Given the description of an element on the screen output the (x, y) to click on. 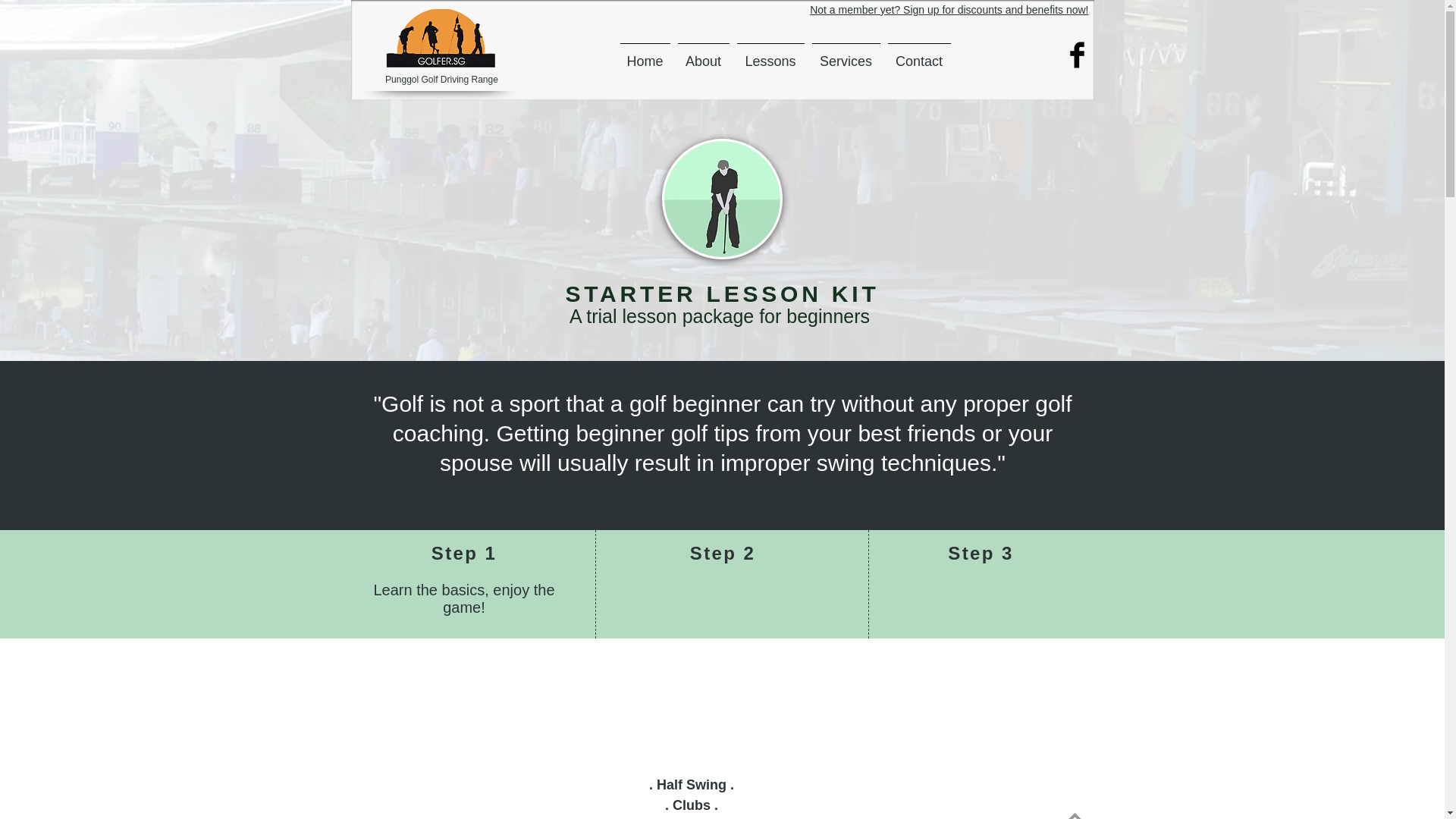
Not a member yet? Sign up for discounts and benefits now! (948, 9)
Contact (919, 54)
About (702, 54)
Home (643, 54)
Lessons (770, 54)
Services (845, 54)
